Given the description of an element on the screen output the (x, y) to click on. 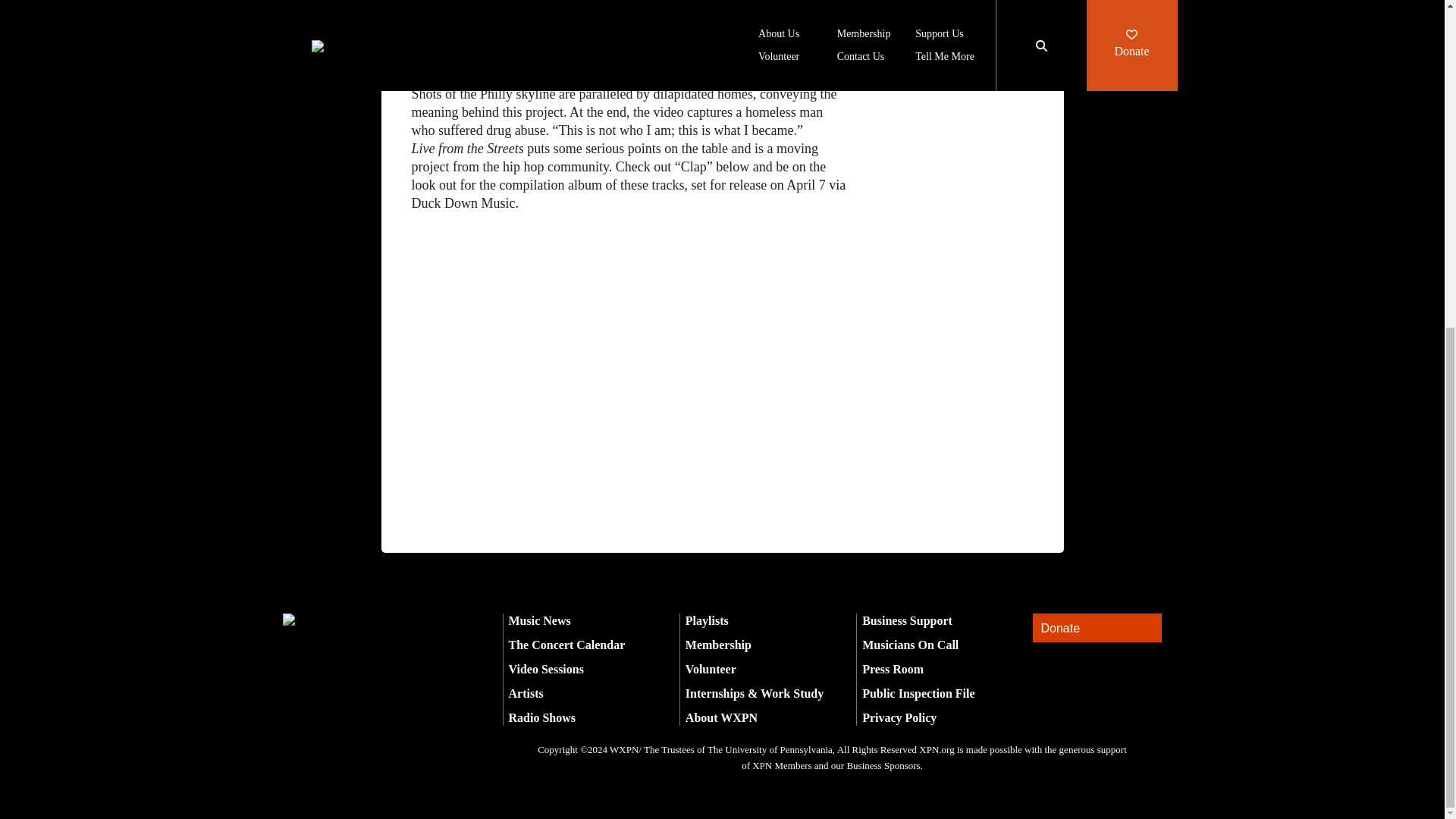
Business Support (906, 620)
Press Room (892, 668)
Membership (718, 644)
Volunteer (710, 668)
The Concert Calendar (566, 644)
Musicians On Call (909, 644)
Donate (1096, 627)
Video Sessions (545, 668)
Privacy Policy (898, 717)
Artists (525, 693)
